Given the description of an element on the screen output the (x, y) to click on. 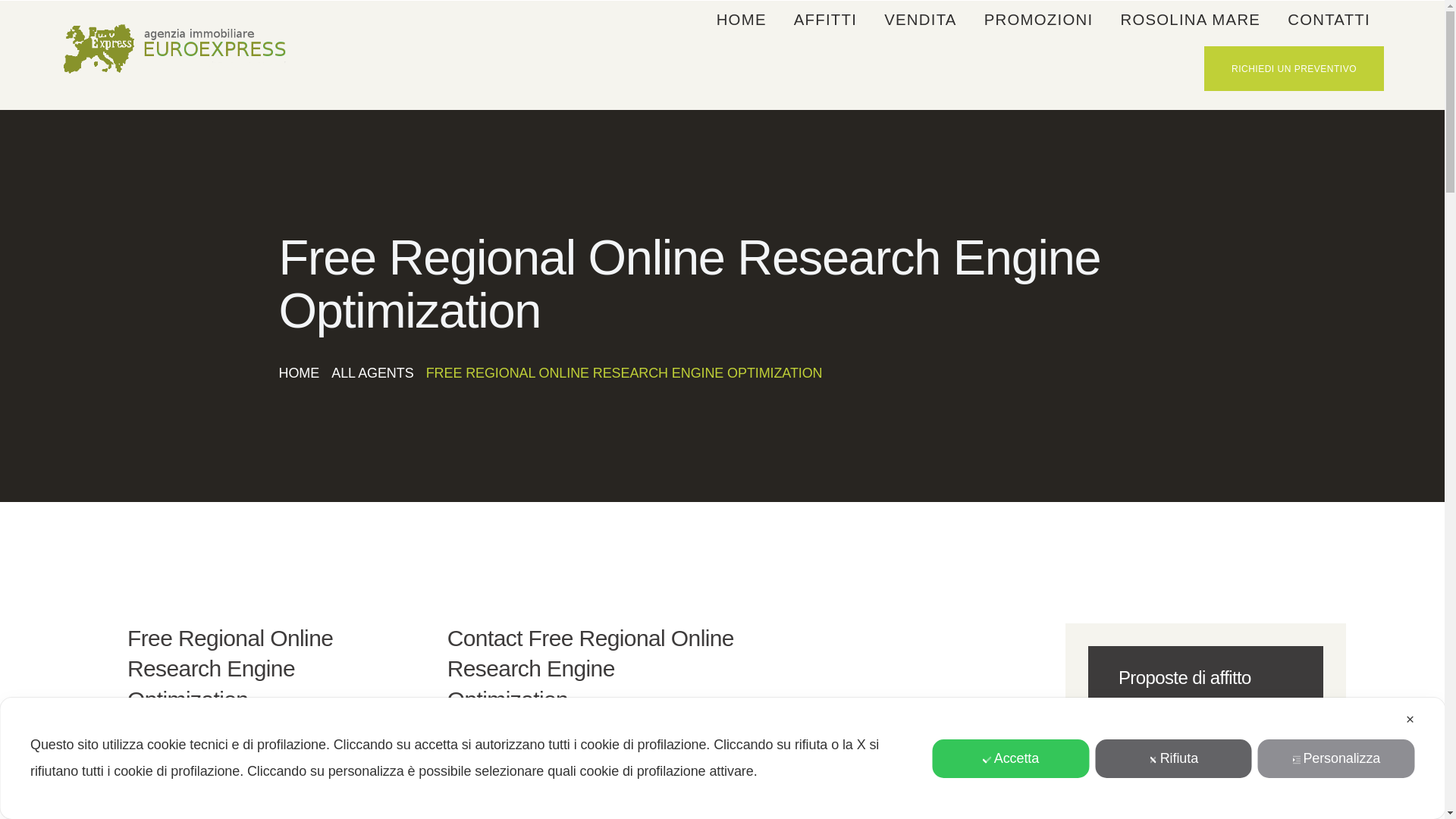
ROSOLINA MARE (1190, 19)
06-26025309 (273, 778)
PROMOZIONI (1038, 19)
RICHIEDI UN PREVENTIVO (1294, 67)
ALL AGENTS (372, 372)
AFFITTI (825, 19)
CONTATTI (1329, 19)
VENDITA (920, 19)
HOME (741, 19)
HOME (299, 373)
